Given the description of an element on the screen output the (x, y) to click on. 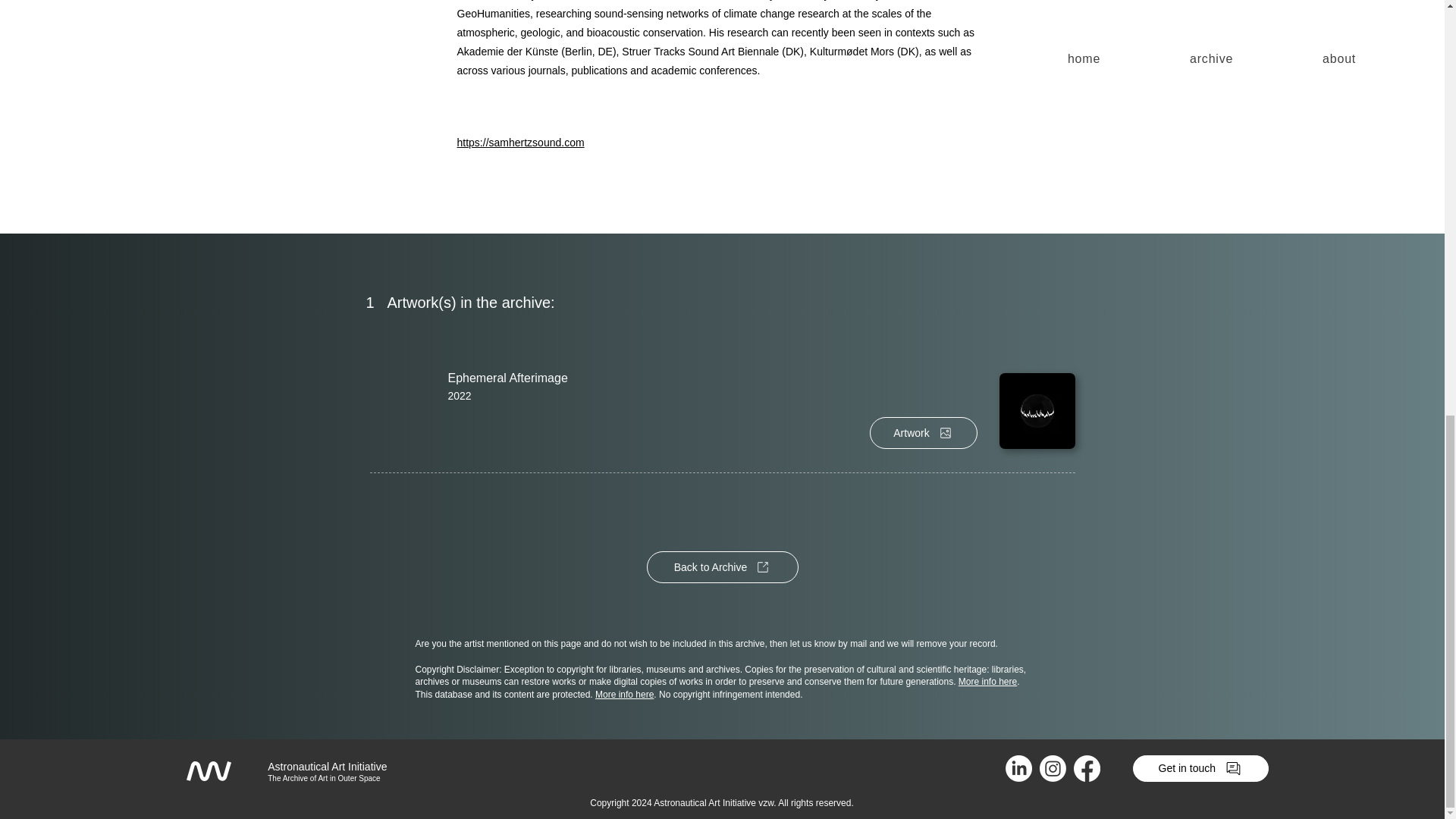
Back to Archive (721, 567)
More info here (624, 694)
Artwork (922, 432)
More info here (987, 681)
Get in touch (1200, 768)
